Given the description of an element on the screen output the (x, y) to click on. 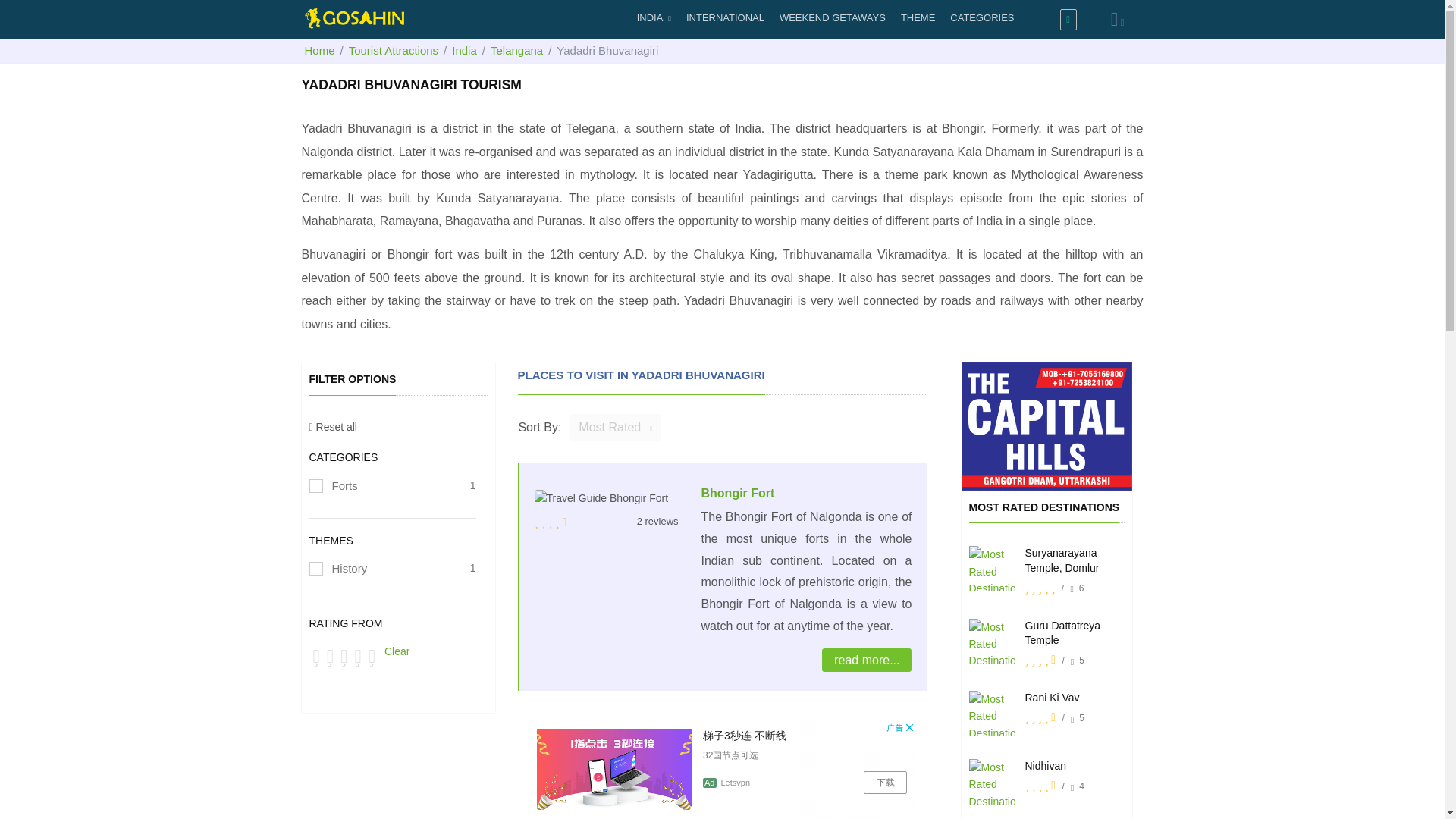
INDIA (654, 17)
CATEGORIES (981, 17)
Clear (396, 651)
Most Rated (615, 427)
Tourist Attractions (393, 50)
Home (319, 50)
Bhongir Fort (737, 492)
read more... (866, 660)
India (464, 50)
THEME (917, 17)
INTERNATIONAL (724, 17)
Telangana (516, 50)
Reset all (332, 426)
WEEKEND GETAWAYS (831, 17)
